Given the description of an element on the screen output the (x, y) to click on. 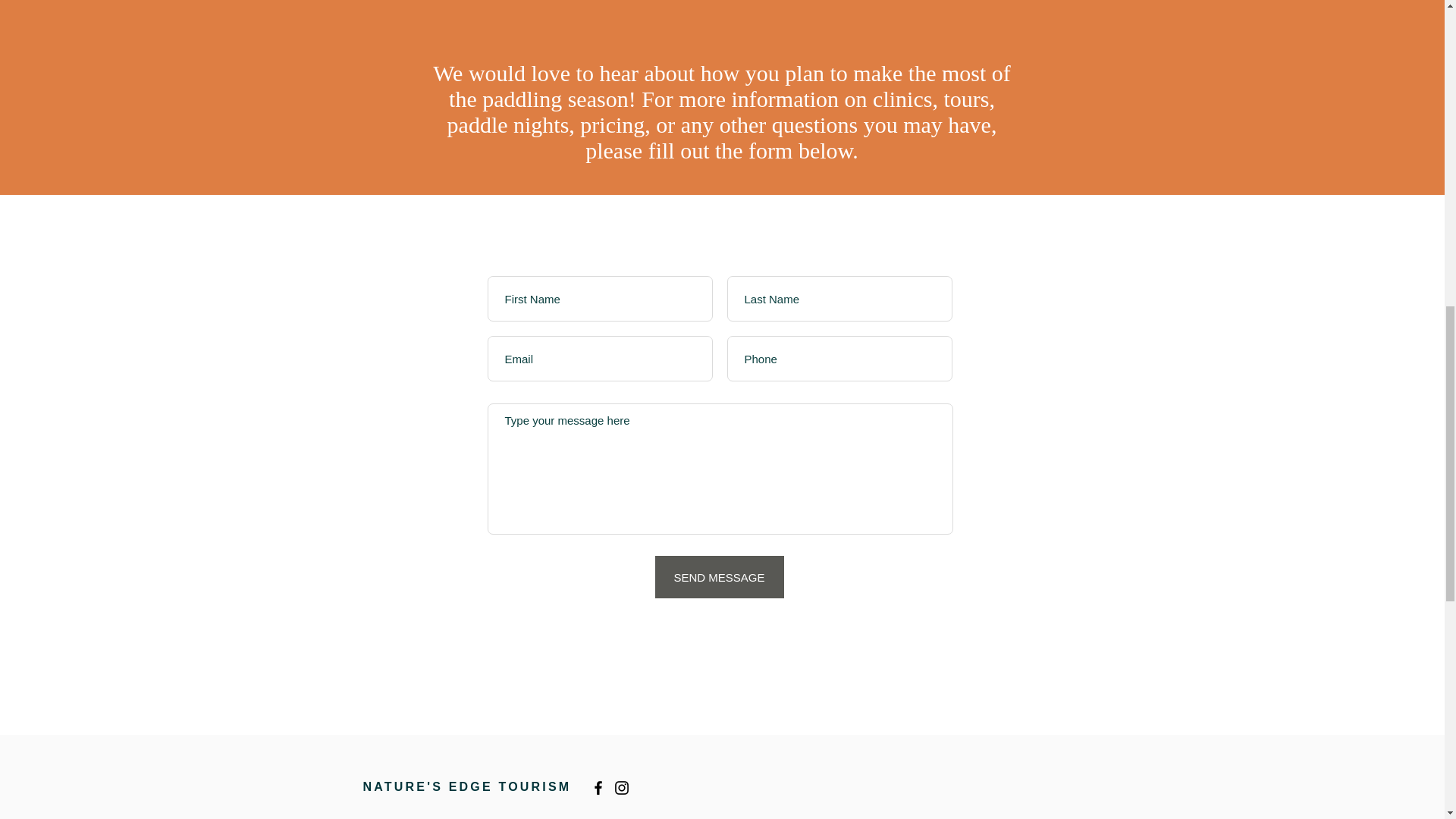
SEND MESSAGE (719, 577)
